Given the description of an element on the screen output the (x, y) to click on. 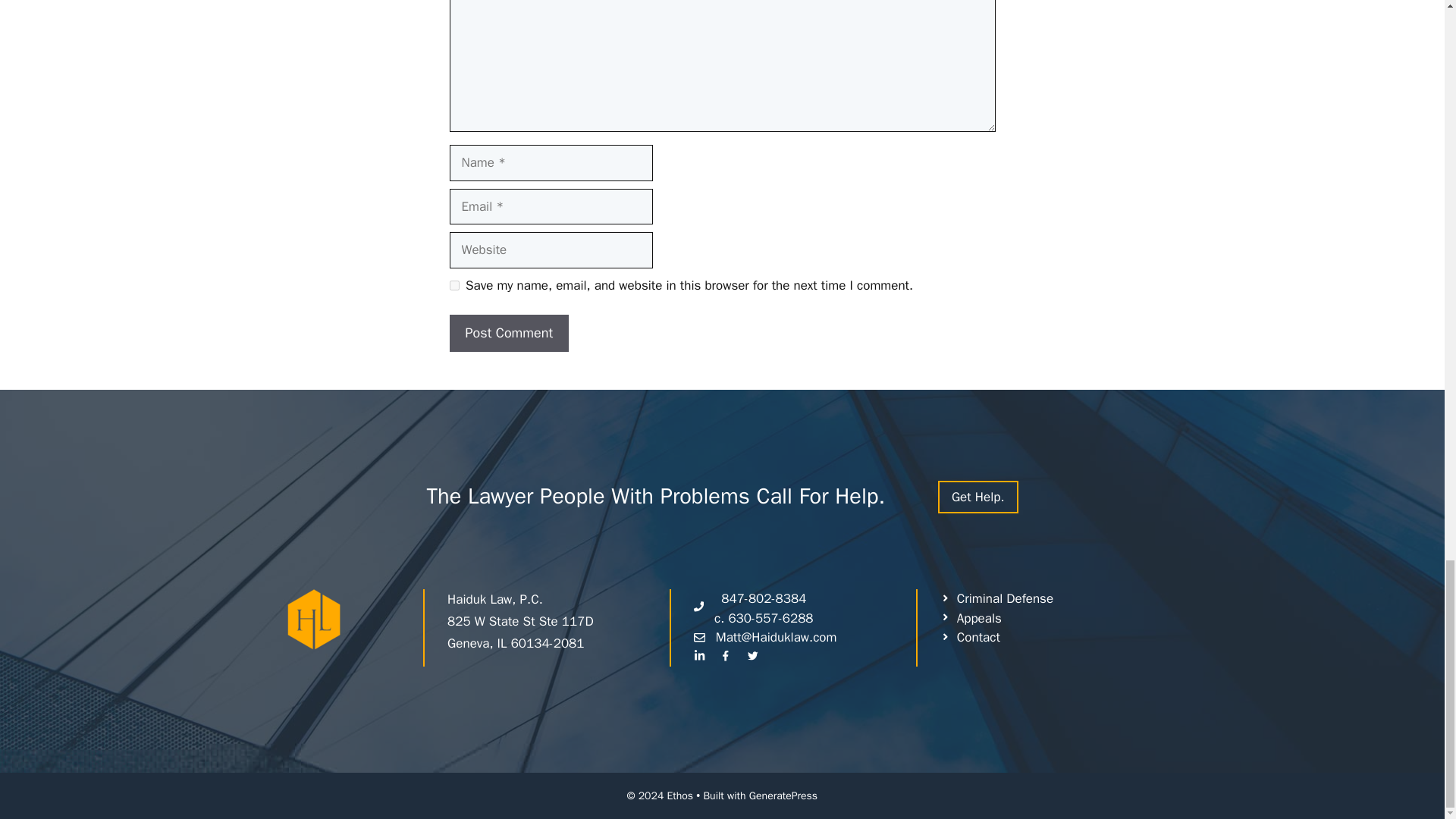
Post Comment (508, 333)
yes (453, 285)
